Given the description of an element on the screen output the (x, y) to click on. 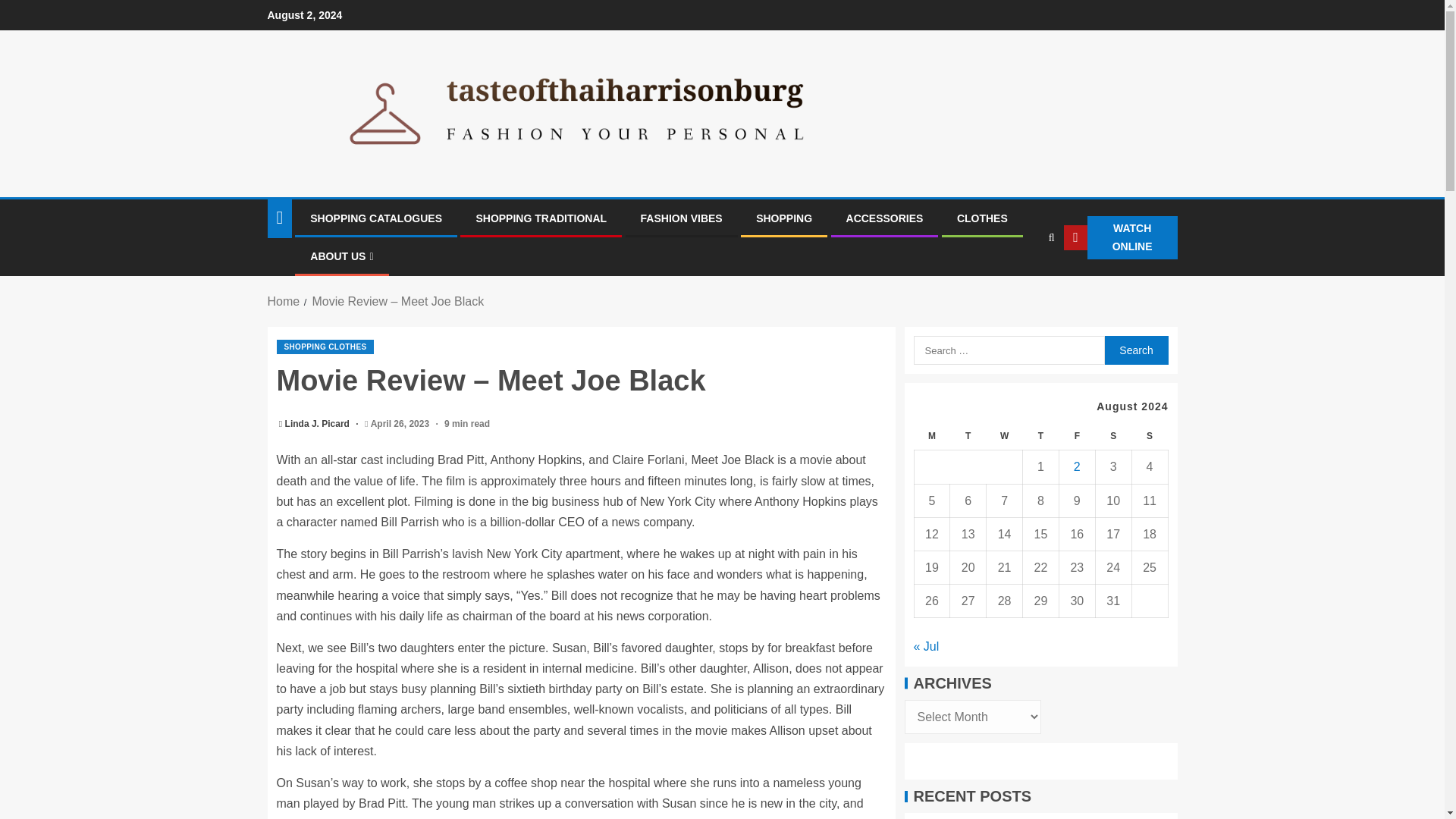
Saturday (1112, 436)
Search (1020, 284)
Home (282, 300)
Search (1135, 349)
ABOUT US (341, 256)
SHOPPING TRADITIONAL (541, 218)
WATCH ONLINE (1120, 238)
FASHION VIBES (681, 218)
Search (1135, 349)
SHOPPING (783, 218)
